Given the description of an element on the screen output the (x, y) to click on. 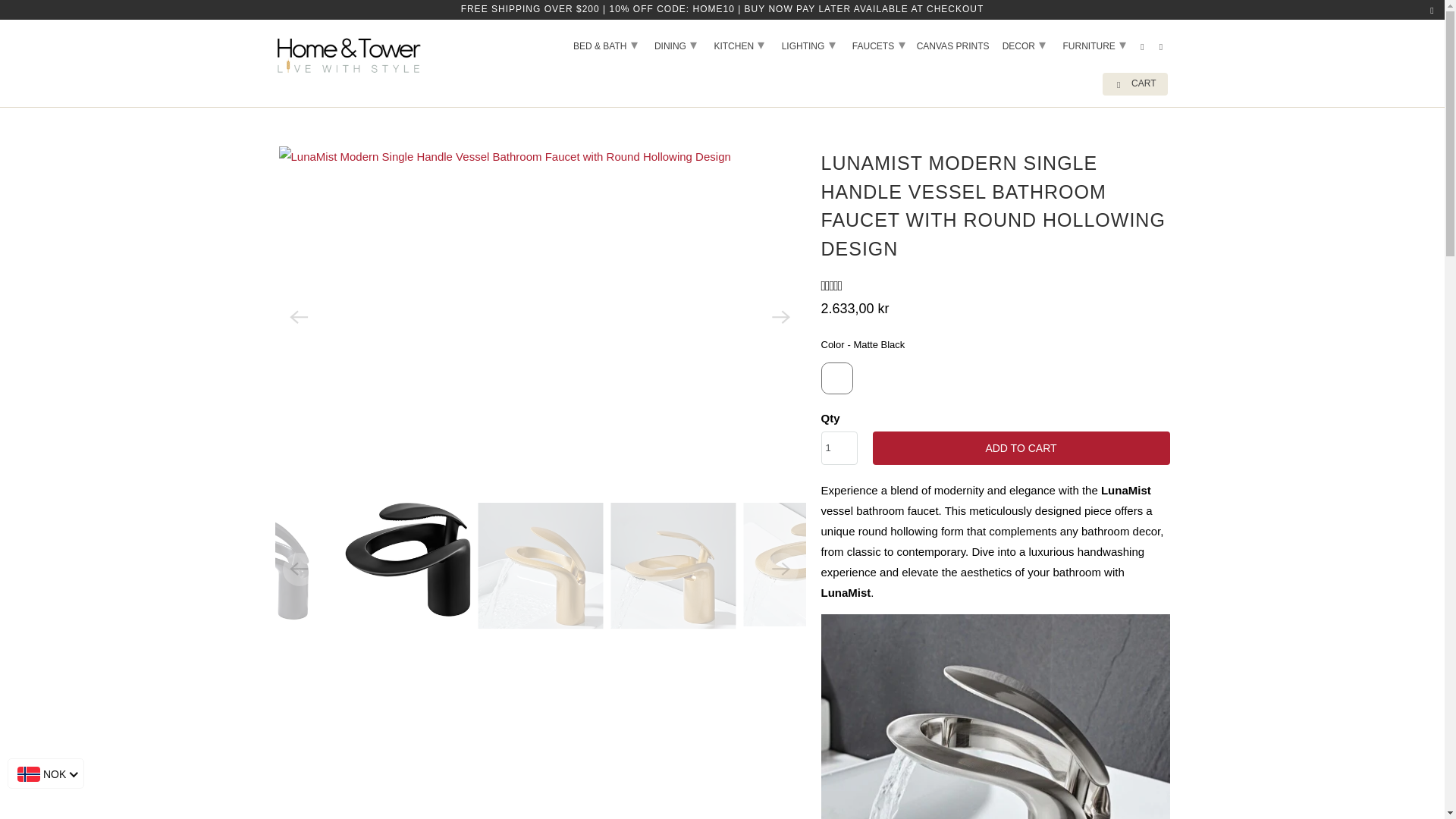
Products (344, 85)
1 (839, 448)
Home and Tower (288, 85)
